Given the description of an element on the screen output the (x, y) to click on. 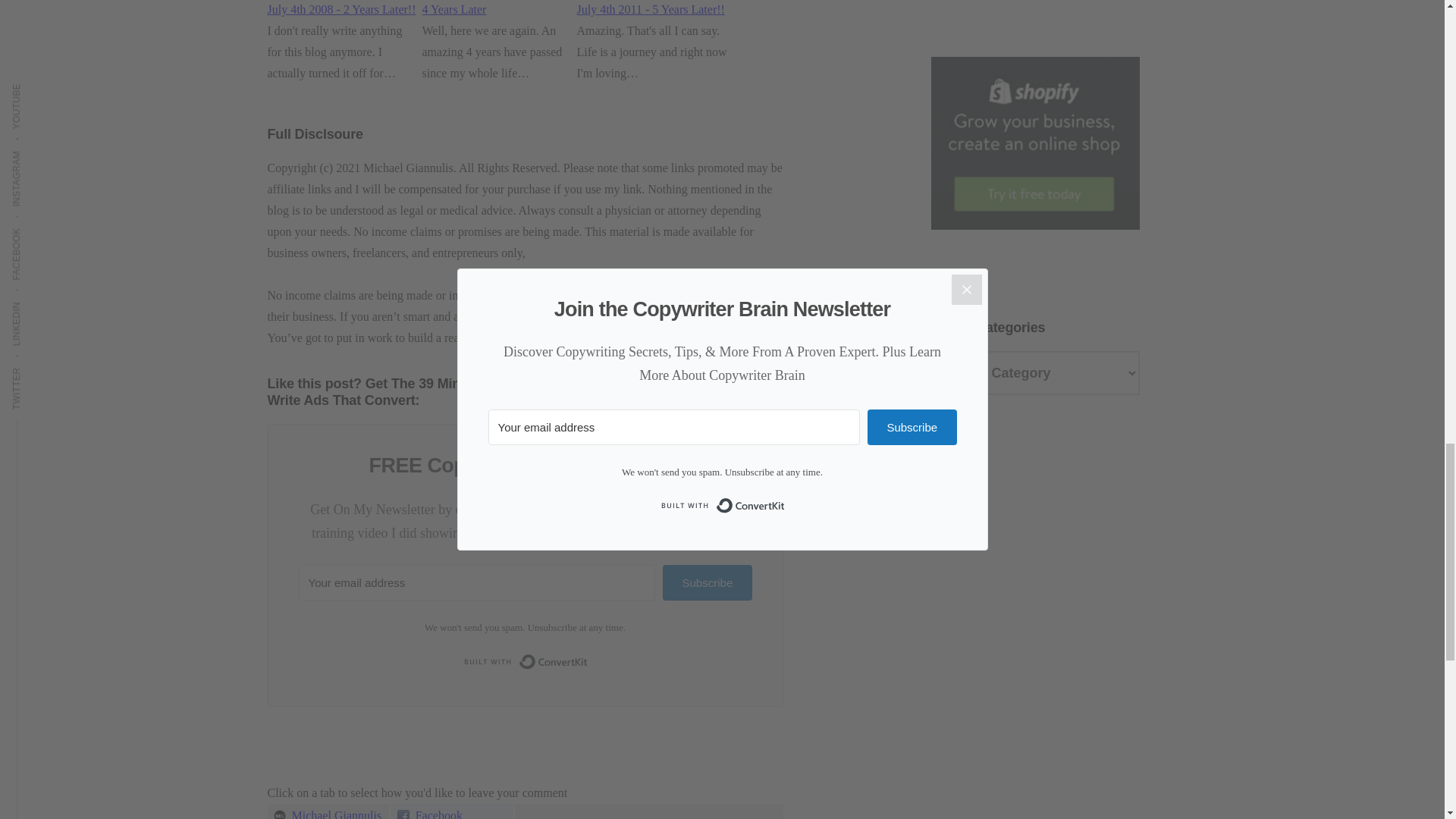
July 4th 2011 - 5 Years Later!! (649, 9)
July 4th 2008 - 2 Years Later!! (340, 9)
4 Years Later (454, 9)
Subscribe (706, 582)
